Given the description of an element on the screen output the (x, y) to click on. 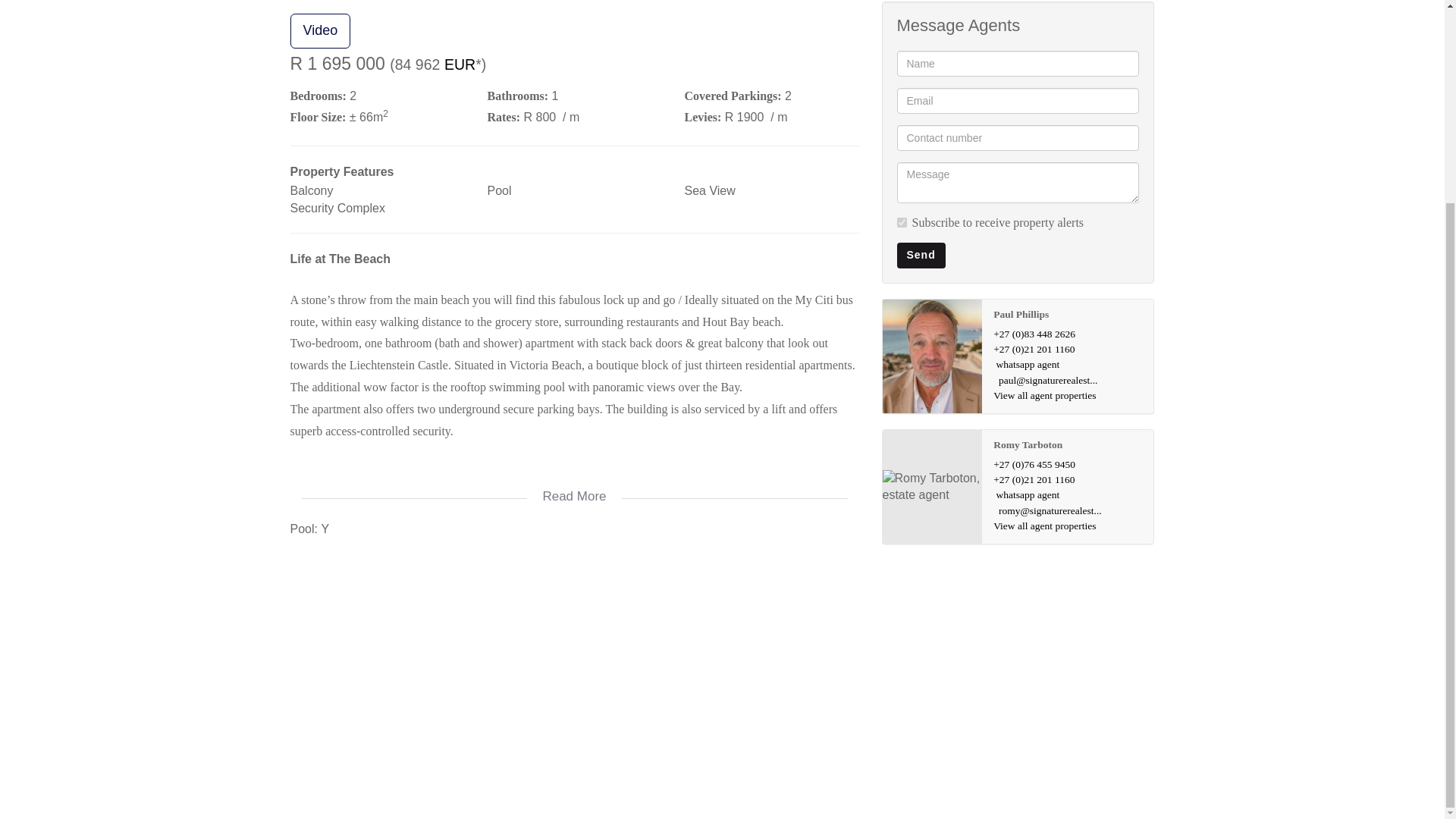
on (900, 222)
Read More (574, 486)
google map (574, 667)
